Given the description of an element on the screen output the (x, y) to click on. 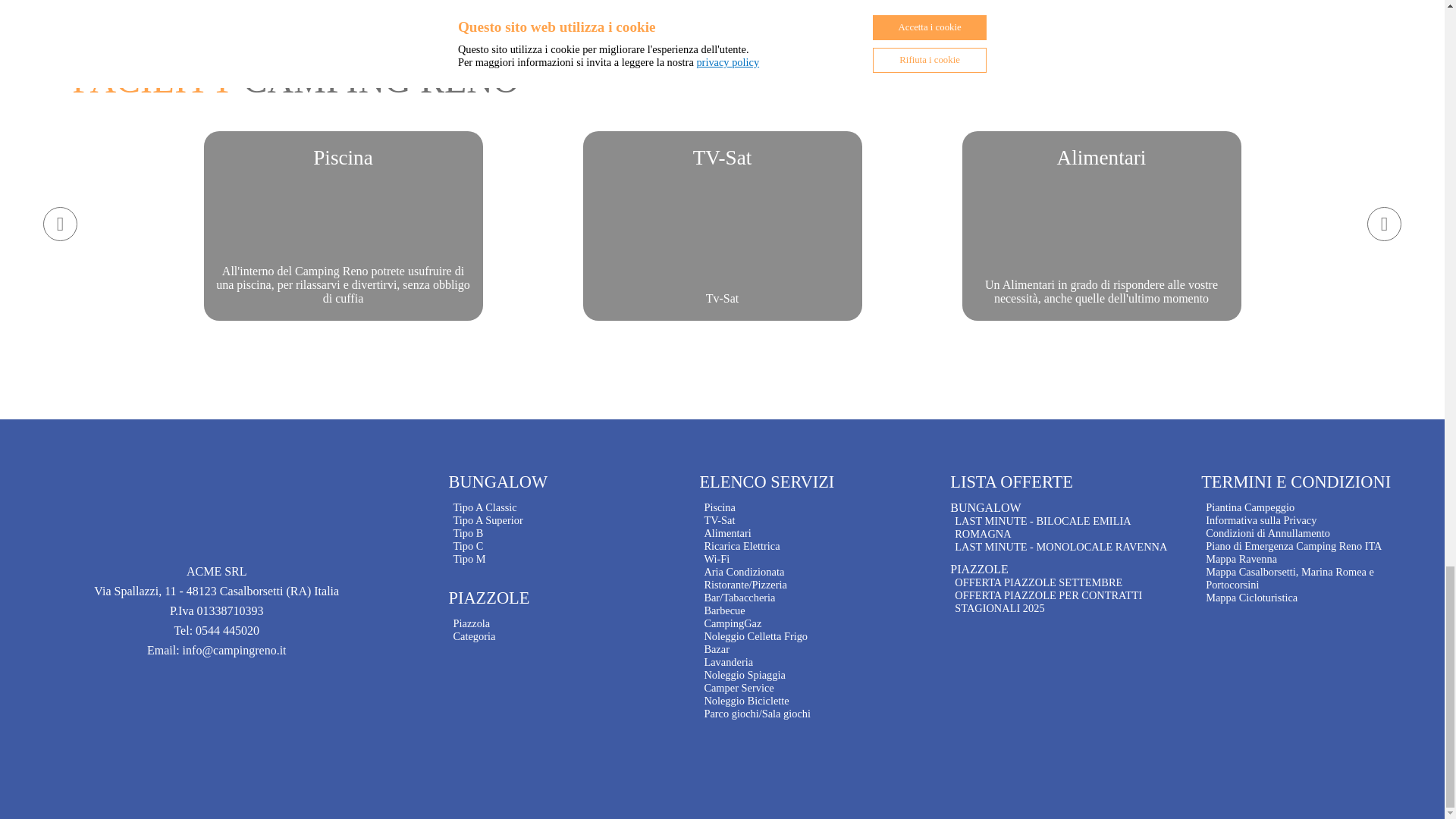
FACEBOOK (721, 226)
INSTAGRAM (636, 10)
